Given the description of an element on the screen output the (x, y) to click on. 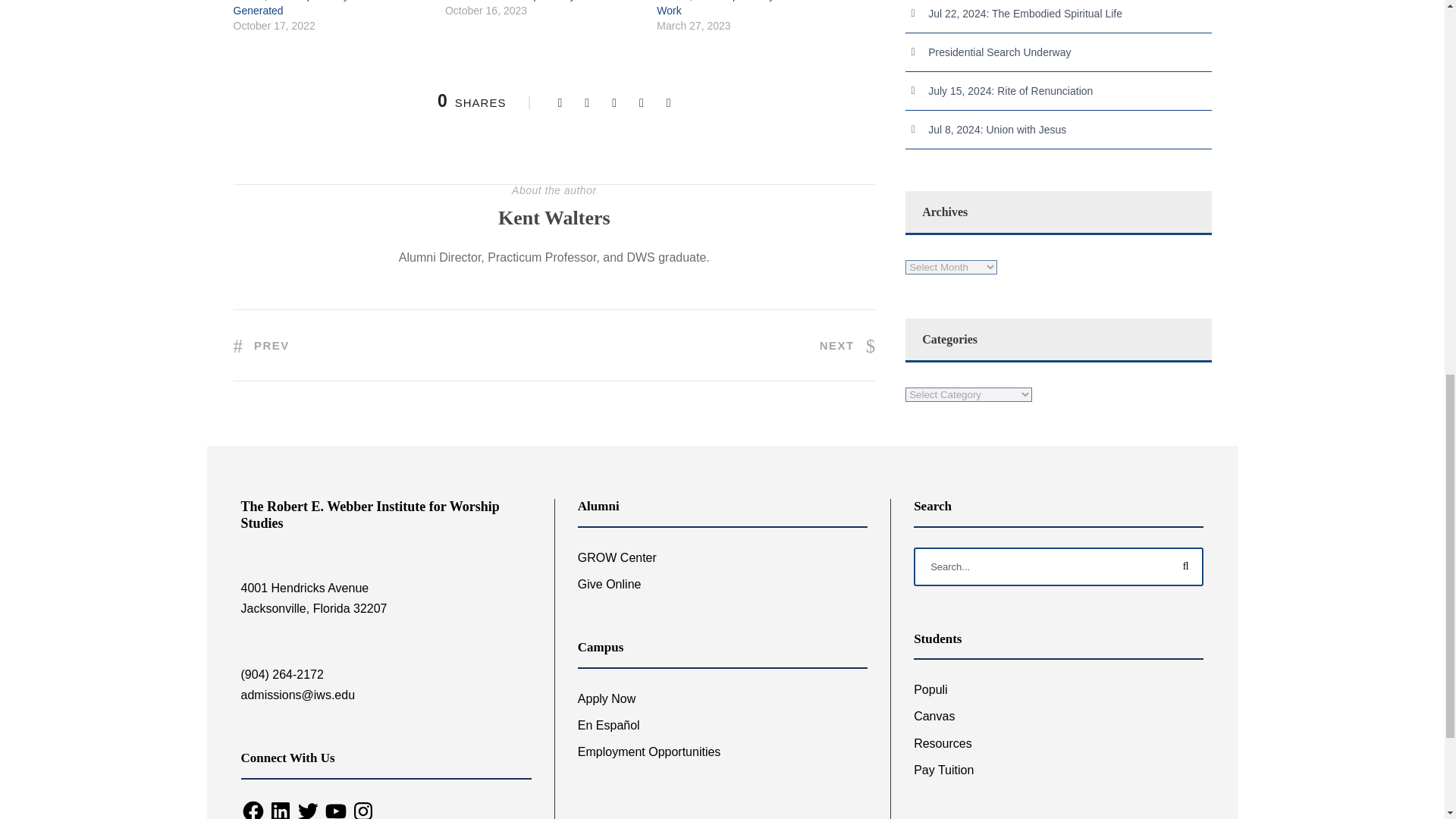
Mar 27, 2023: Spirituality Is Not Our Work (740, 8)
Oct 17, 2022: Spirituality Is Not Self-Generated (318, 8)
Path of Christian Spirituality (510, 0)
Posts by Kent Walters (553, 218)
